Given the description of an element on the screen output the (x, y) to click on. 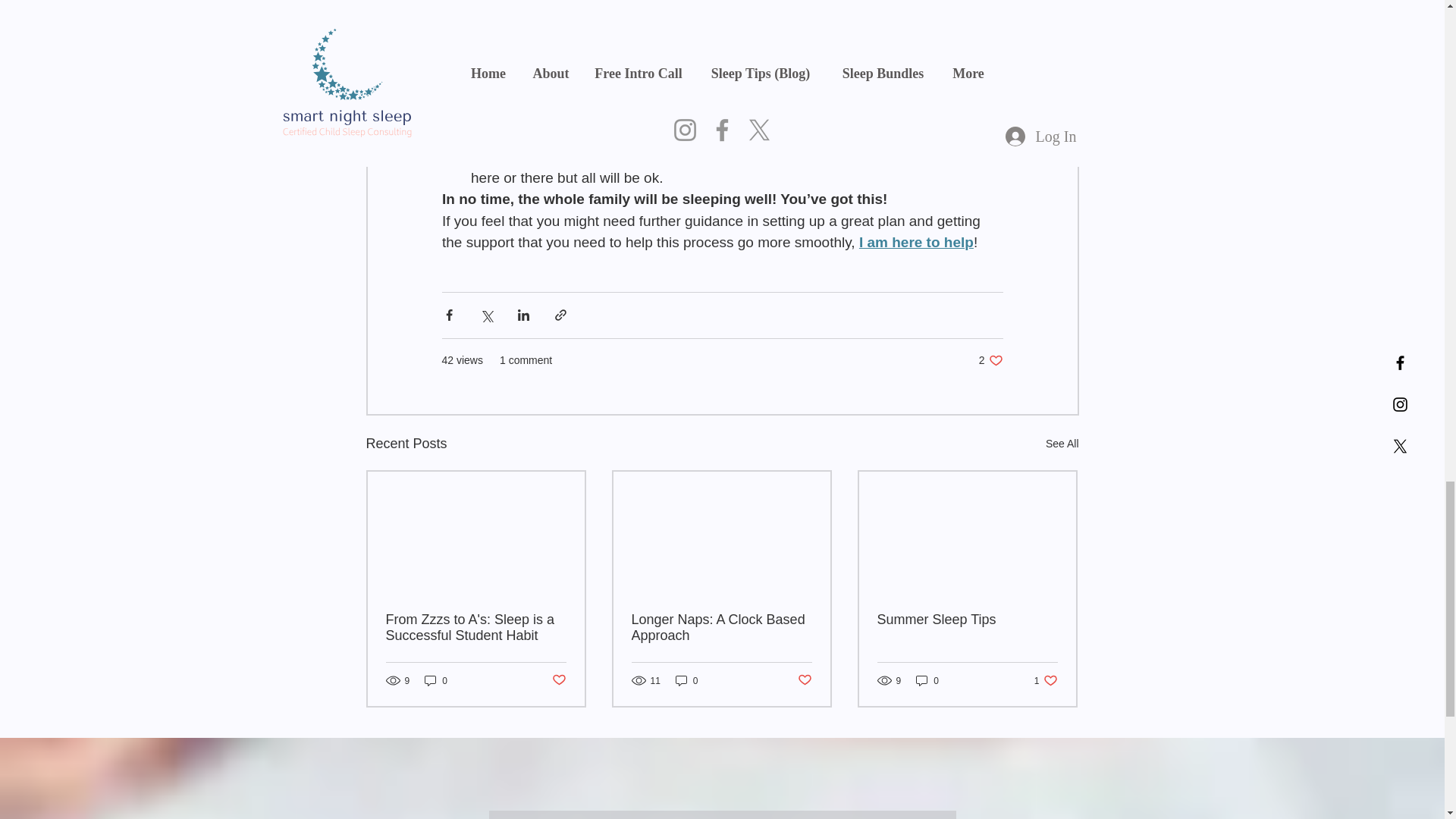
See All (990, 359)
I am here to help (1061, 444)
From Zzzs to A's: Sleep is a Successful Student Habit (915, 242)
